Given the description of an element on the screen output the (x, y) to click on. 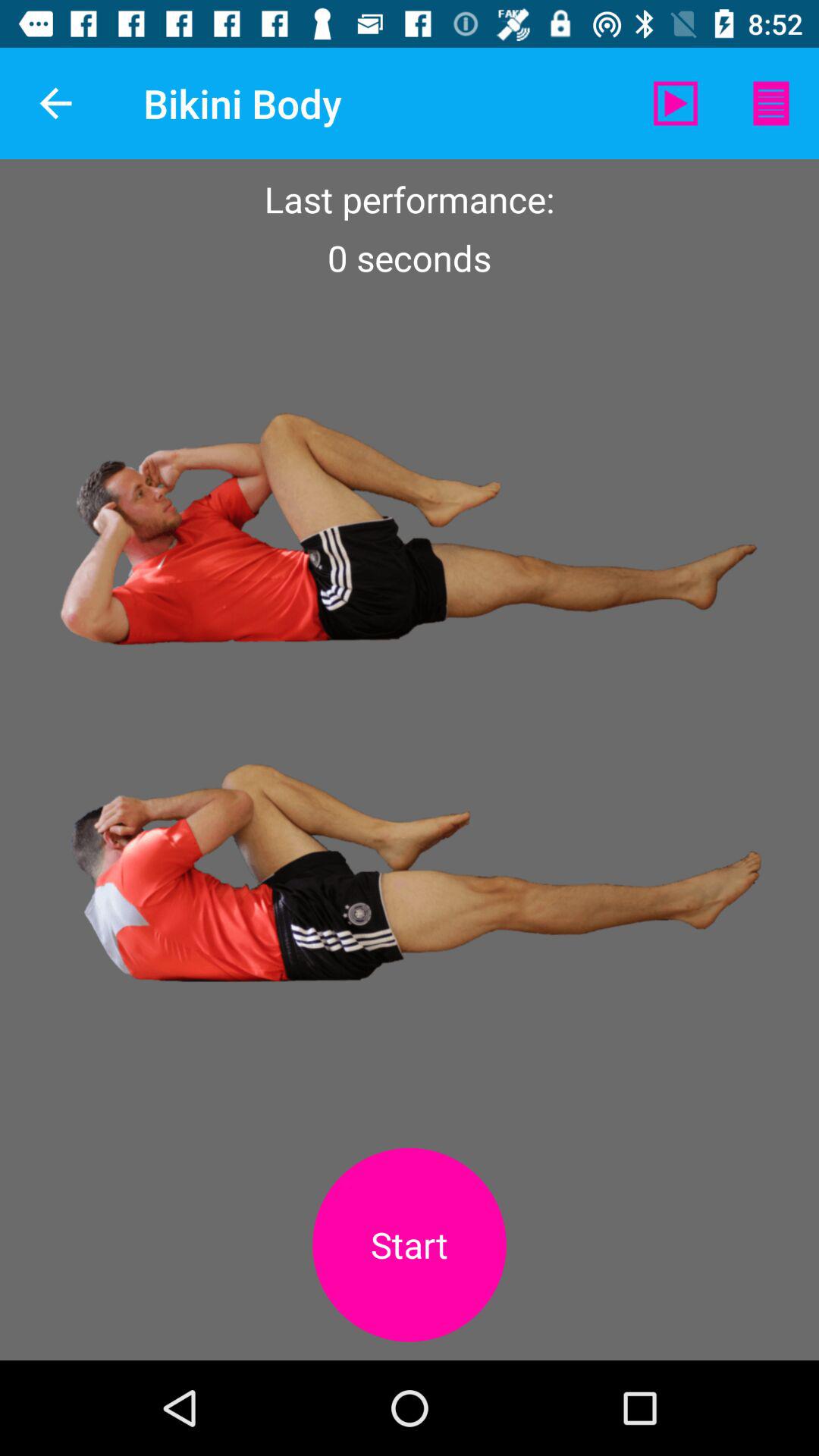
launch the item to the right of the bikini body (675, 103)
